Given the description of an element on the screen output the (x, y) to click on. 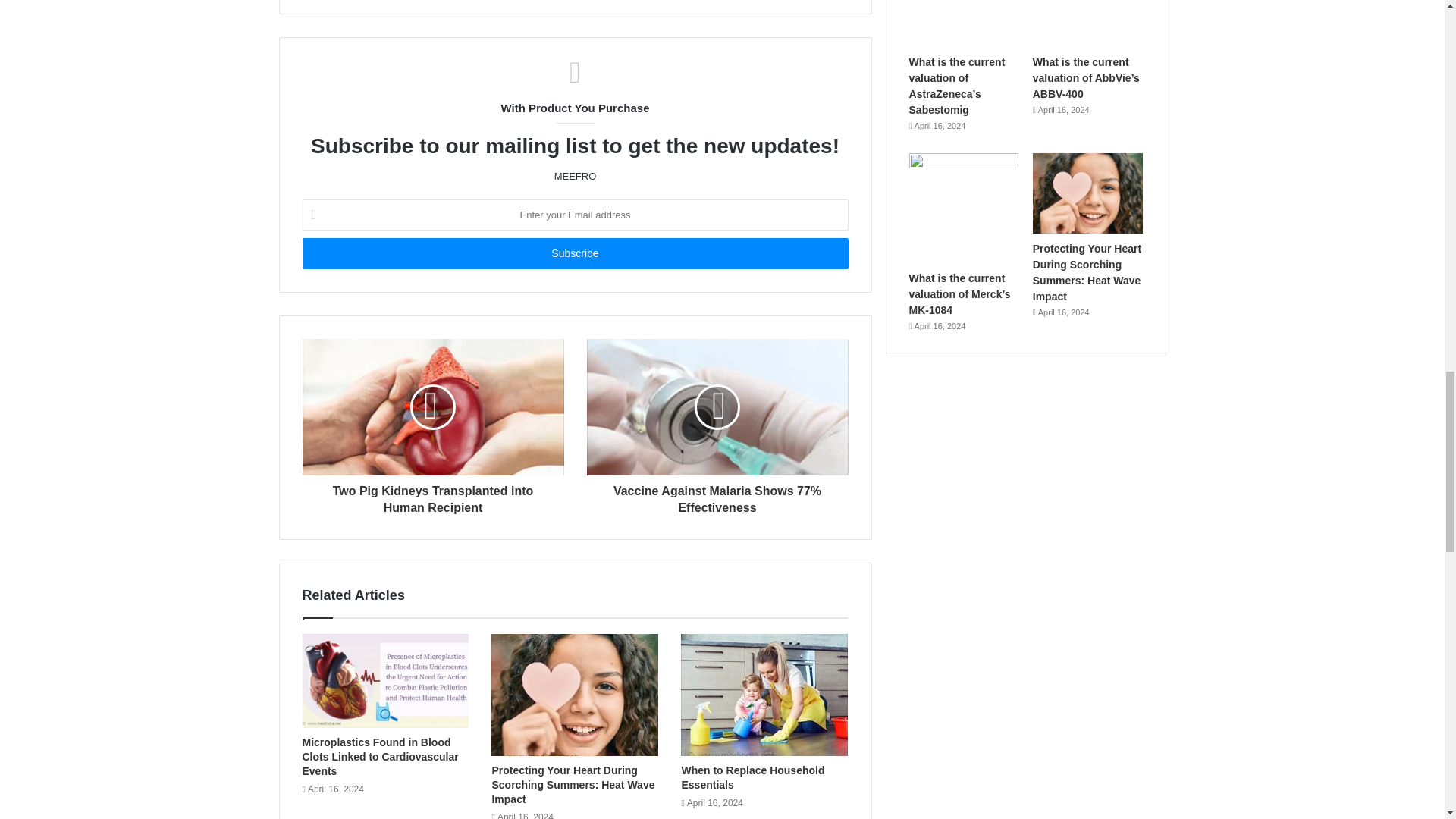
Subscribe (574, 253)
